Given the description of an element on the screen output the (x, y) to click on. 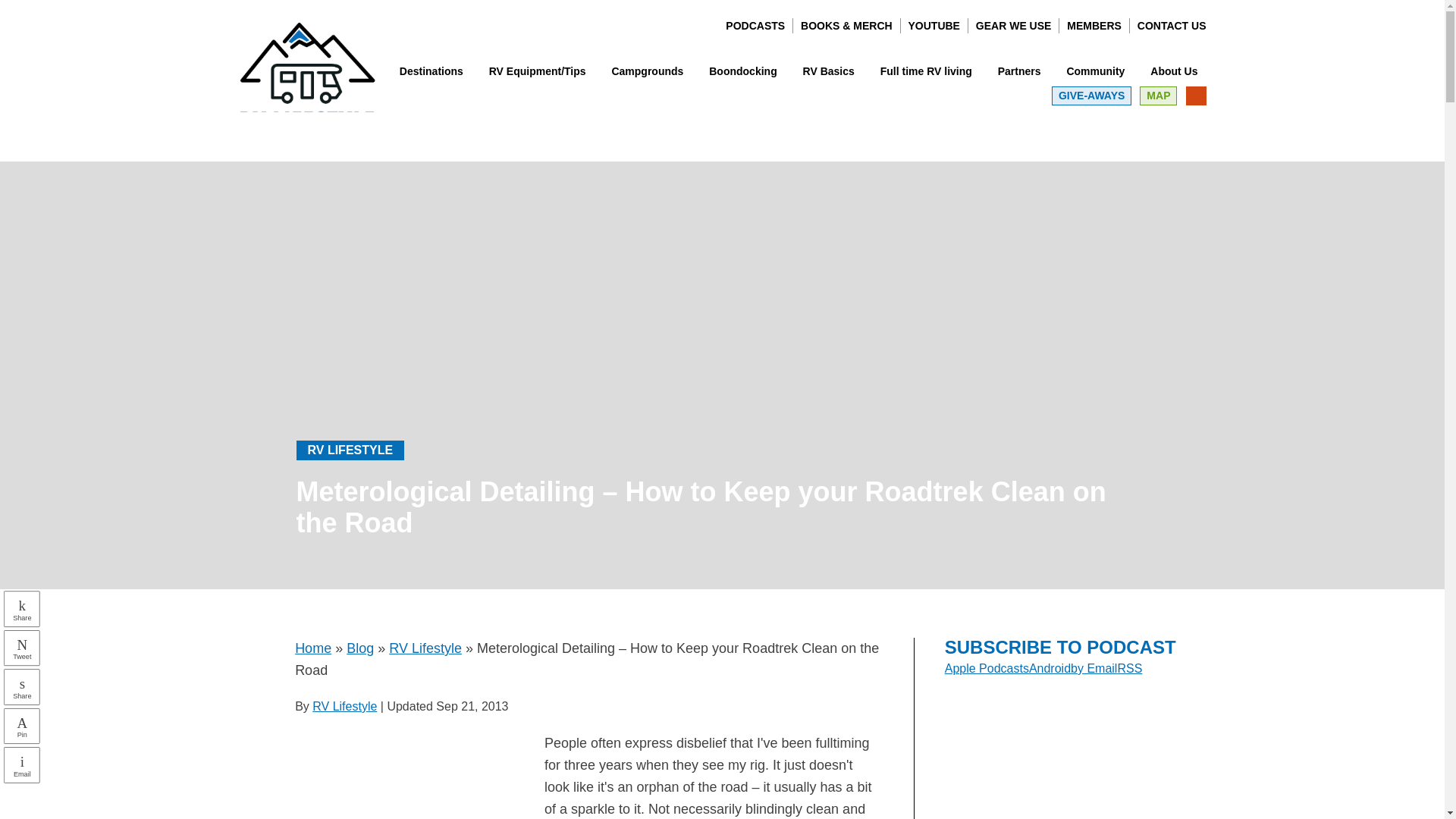
Subscribe on Apple Podcasts (986, 667)
GEAR WE USE (1013, 25)
CONTACT US (1172, 25)
Subscribe by Email (1093, 667)
Destinations (430, 70)
Subscribe via RSS (1128, 667)
Subscribe on Android (1049, 667)
PODCASTS (754, 25)
MEMBERS (1094, 25)
YOUTUBE (933, 25)
